Given the description of an element on the screen output the (x, y) to click on. 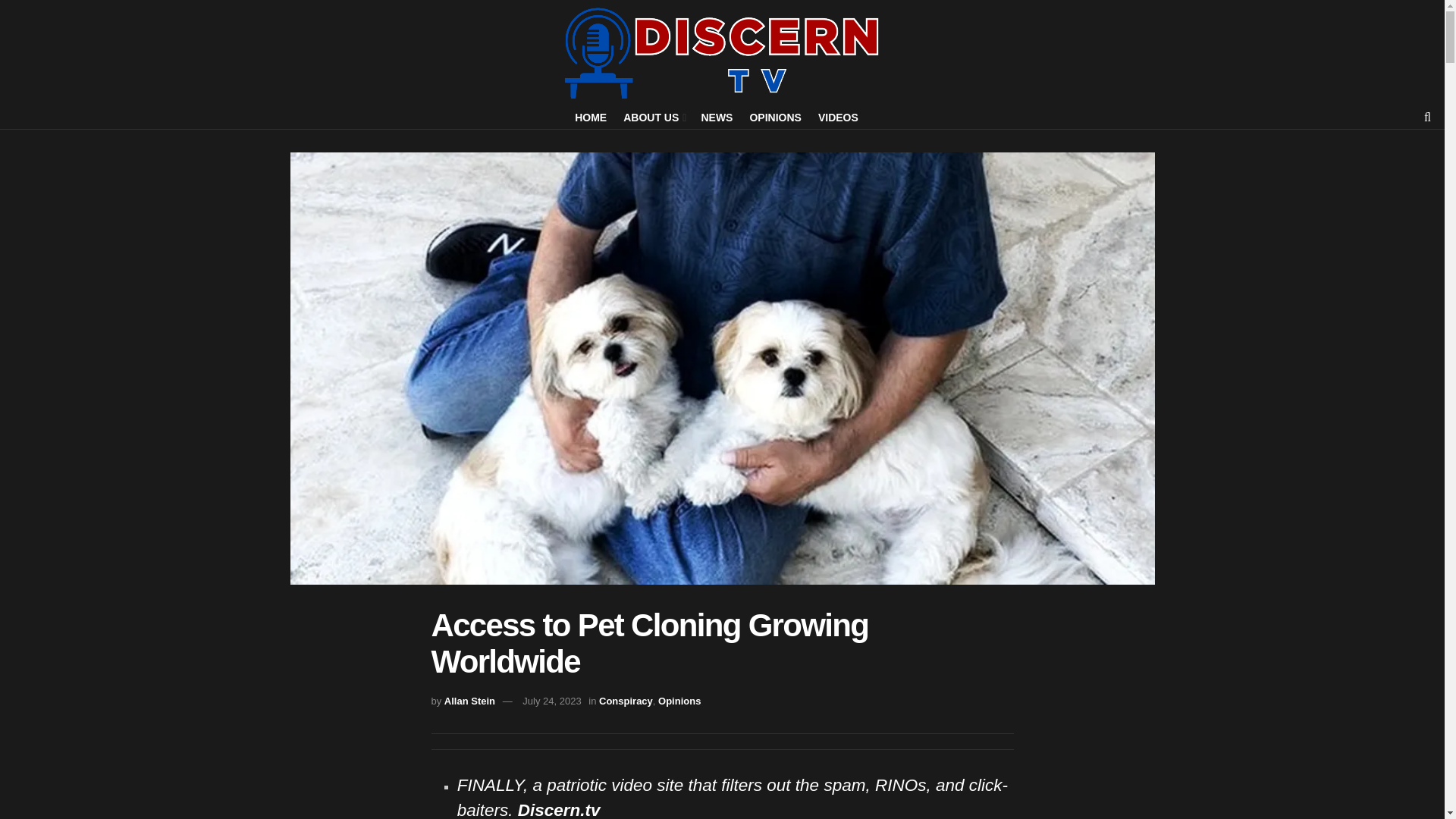
HOME (591, 117)
VIDEOS (838, 117)
Discern.tv (558, 809)
Opinions (679, 700)
Conspiracy (625, 700)
July 24, 2023 (551, 700)
NEWS (716, 117)
ABOUT US (653, 117)
Allan Stein (469, 700)
OPINIONS (774, 117)
